Given the description of an element on the screen output the (x, y) to click on. 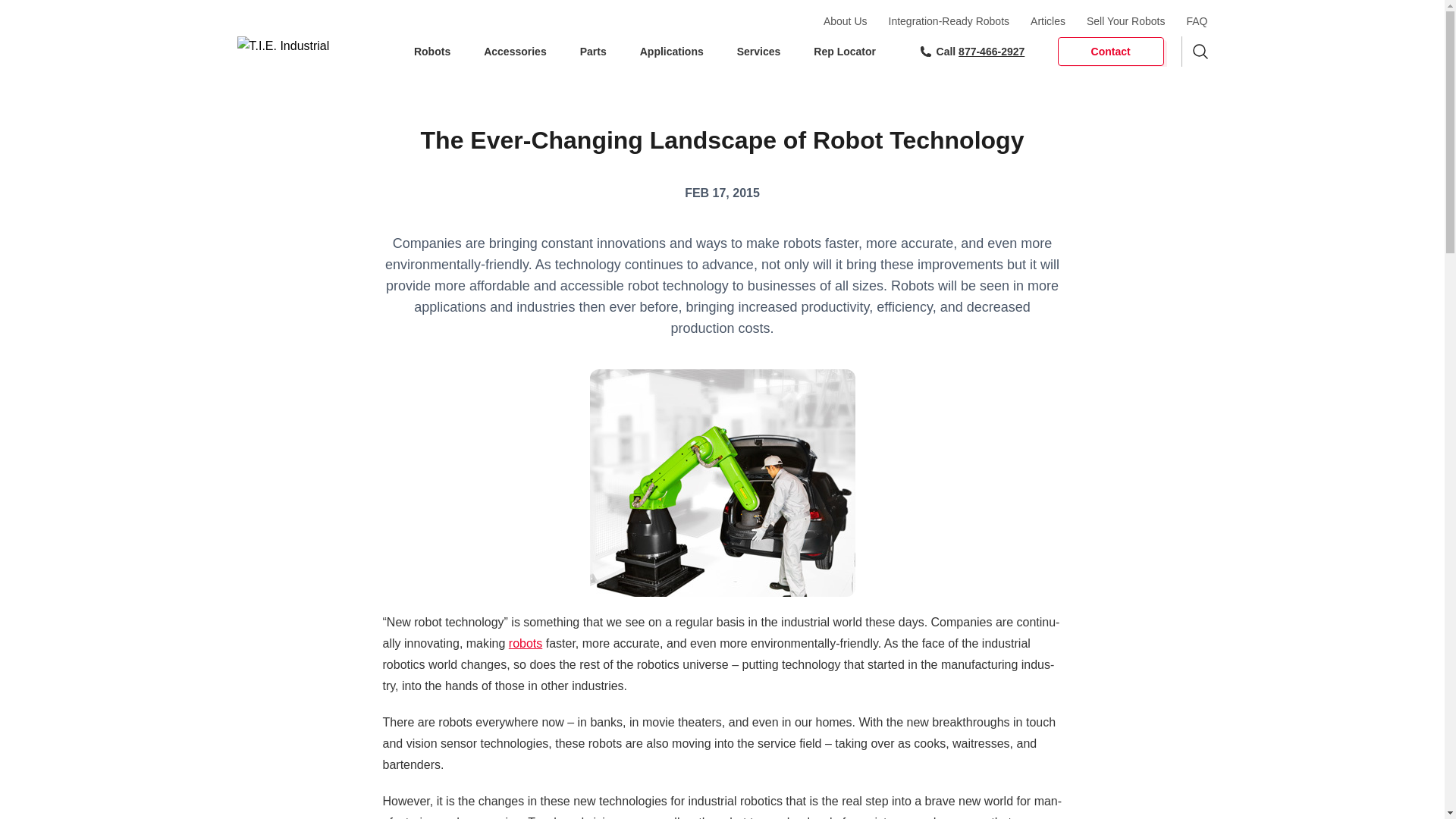
FAQ (1196, 21)
Articles (1047, 21)
Sell Your Robots (1126, 21)
T.I.E. Industrial (302, 51)
About Us (845, 21)
About Us (845, 21)
Integration-ready Robots (949, 21)
FAQ (1196, 21)
Robots (432, 51)
Integration-Ready Robots (949, 21)
Sell Your Robots (1126, 21)
Robots (432, 51)
Articles (1047, 21)
